Given the description of an element on the screen output the (x, y) to click on. 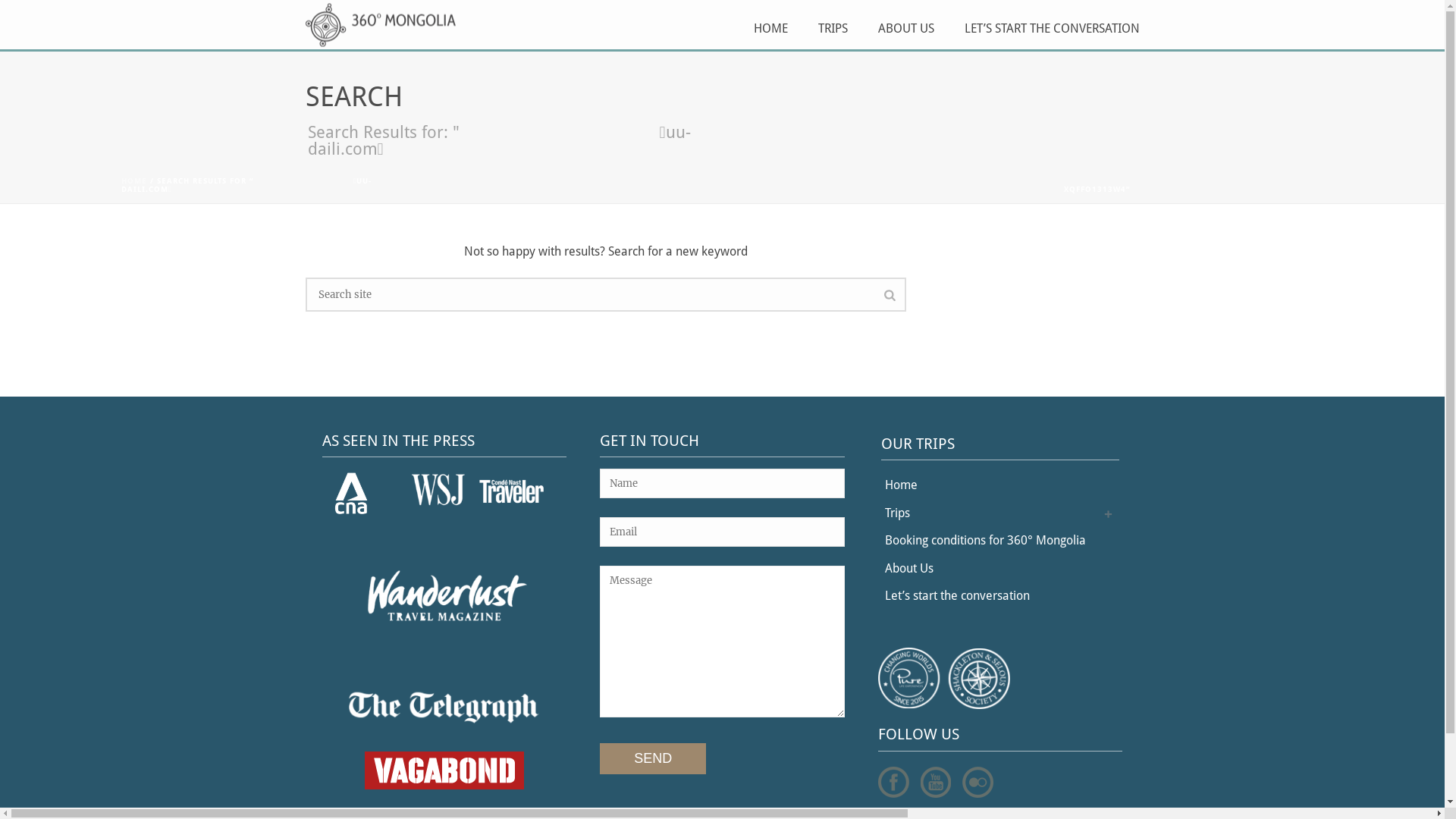
Follow Us on Facebook Element type: hover (893, 781)
HOME Element type: text (134, 180)
Follow Us on Flickr Element type: hover (977, 781)
ABOUT US Element type: text (905, 24)
Bespoke Journeys and Private Camps in Mongolia Element type: hover (379, 24)
HOME Element type: text (770, 24)
TRIPS Element type: text (832, 24)
About Us Element type: text (912, 569)
Follow Us on YouTube Element type: hover (935, 781)
Home Element type: text (904, 485)
Trips Element type: text (901, 513)
